Given the description of an element on the screen output the (x, y) to click on. 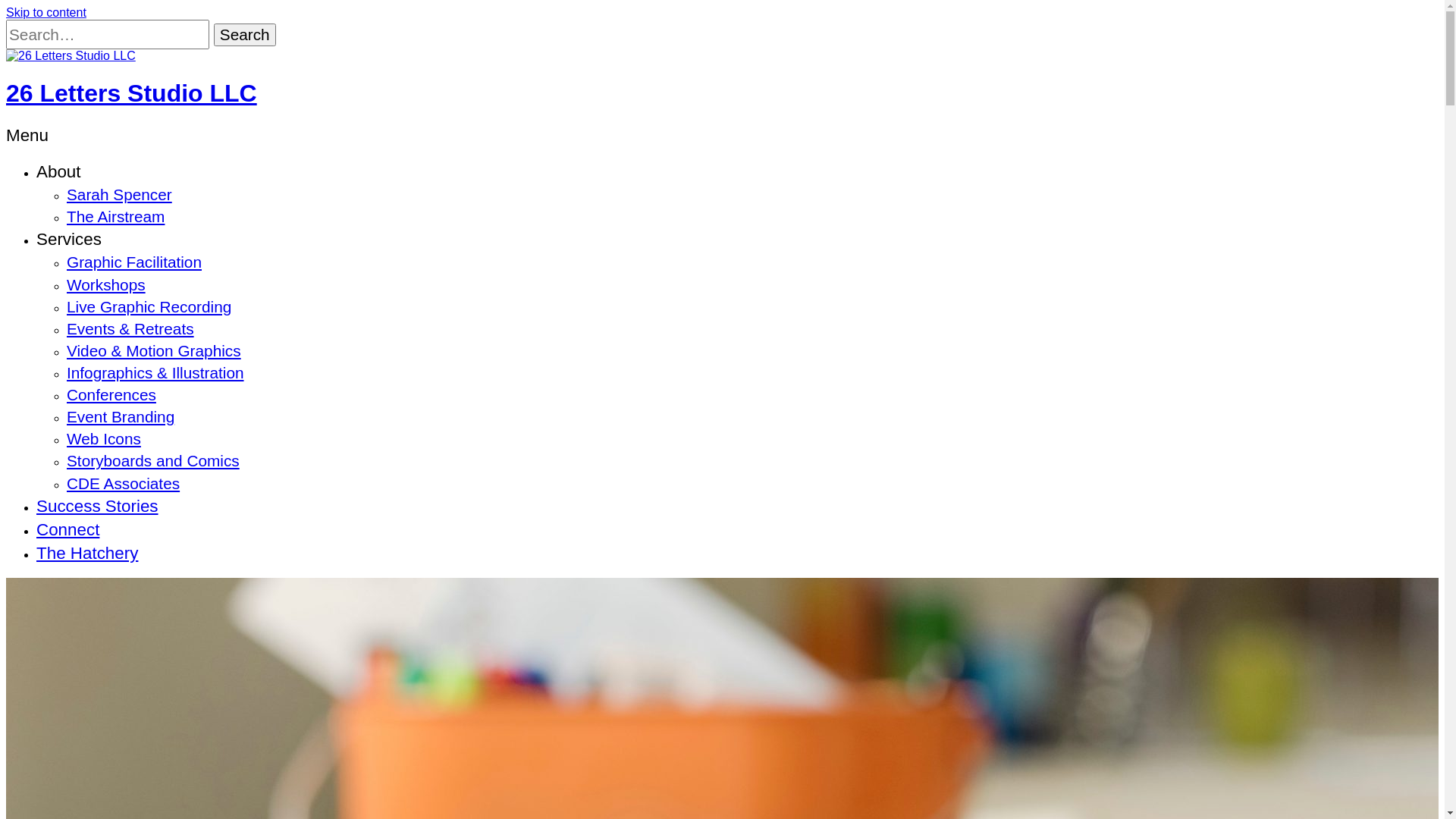
Sarah Spencer Element type: text (119, 194)
Conferences Element type: text (111, 394)
Infographics & Illustration Element type: text (155, 372)
Skip to content Element type: text (46, 12)
Connect Element type: text (67, 529)
Video & Motion Graphics Element type: text (153, 350)
CDE Associates Element type: text (122, 483)
Live Graphic Recording Element type: text (148, 306)
Web Icons Element type: text (103, 438)
Events & Retreats Element type: text (130, 328)
Workshops Element type: text (105, 284)
The Airstream Element type: text (115, 216)
Graphic Facilitation Element type: text (133, 261)
26 Letters Studio LLC Element type: text (131, 92)
The Hatchery Element type: text (87, 552)
Storyboards and Comics Element type: text (152, 460)
Services Element type: text (68, 238)
Event Branding Element type: text (120, 416)
Search Element type: text (244, 34)
Success Stories Element type: text (97, 505)
About Element type: text (58, 171)
Press Enter to submit your search Element type: hover (107, 34)
